Given the description of an element on the screen output the (x, y) to click on. 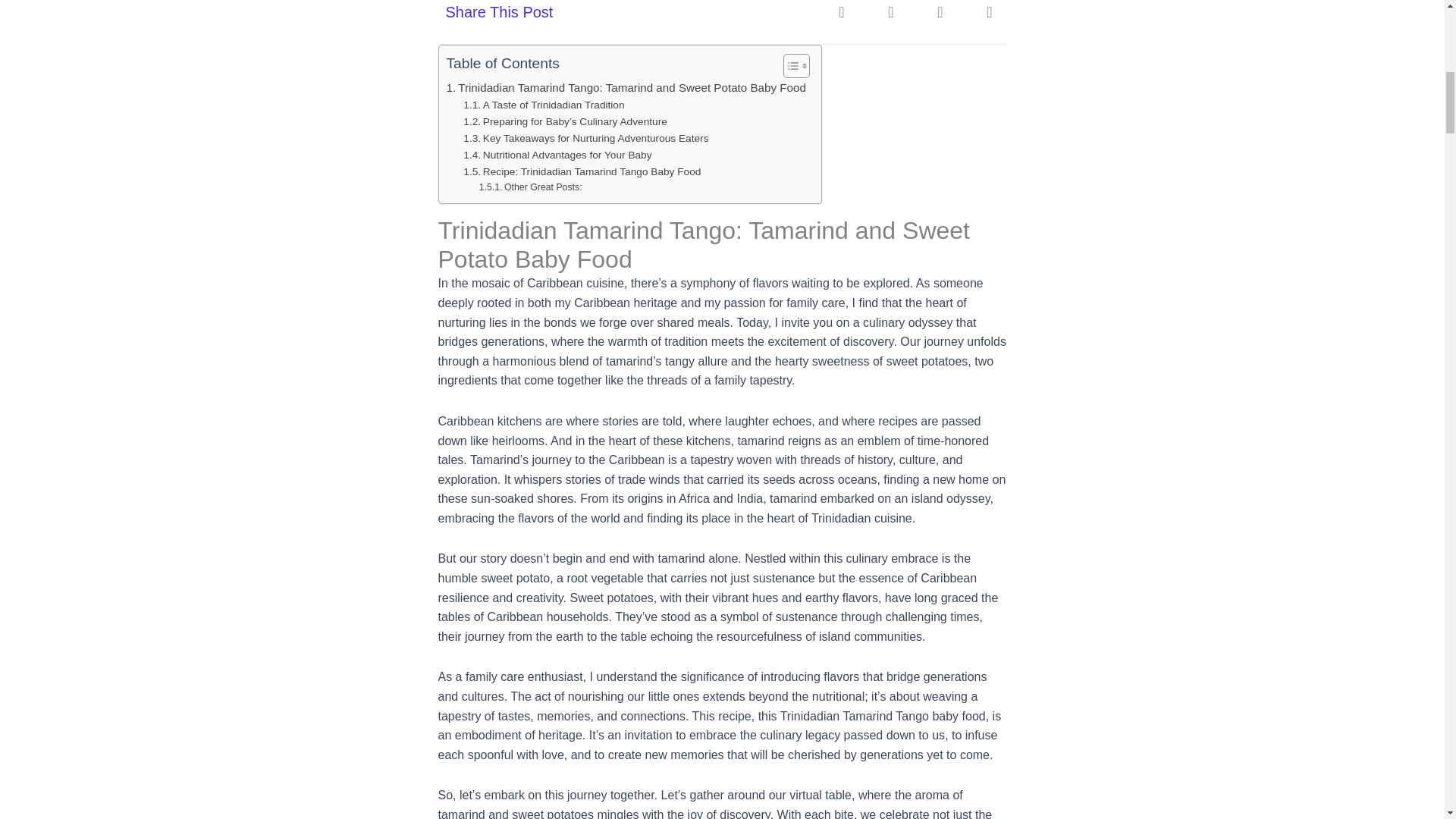
Key Takeaways for Nurturing Adventurous Eaters (585, 138)
Other Great Posts: (530, 187)
Recipe: Trinidadian Tamarind Tango Baby Food (581, 171)
Nutritional Advantages for Your Baby (556, 155)
A Taste of Trinidadian Tradition (543, 105)
A Taste of Trinidadian Tradition (543, 105)
Key Takeaways for Nurturing Adventurous Eaters (585, 138)
